Given the description of an element on the screen output the (x, y) to click on. 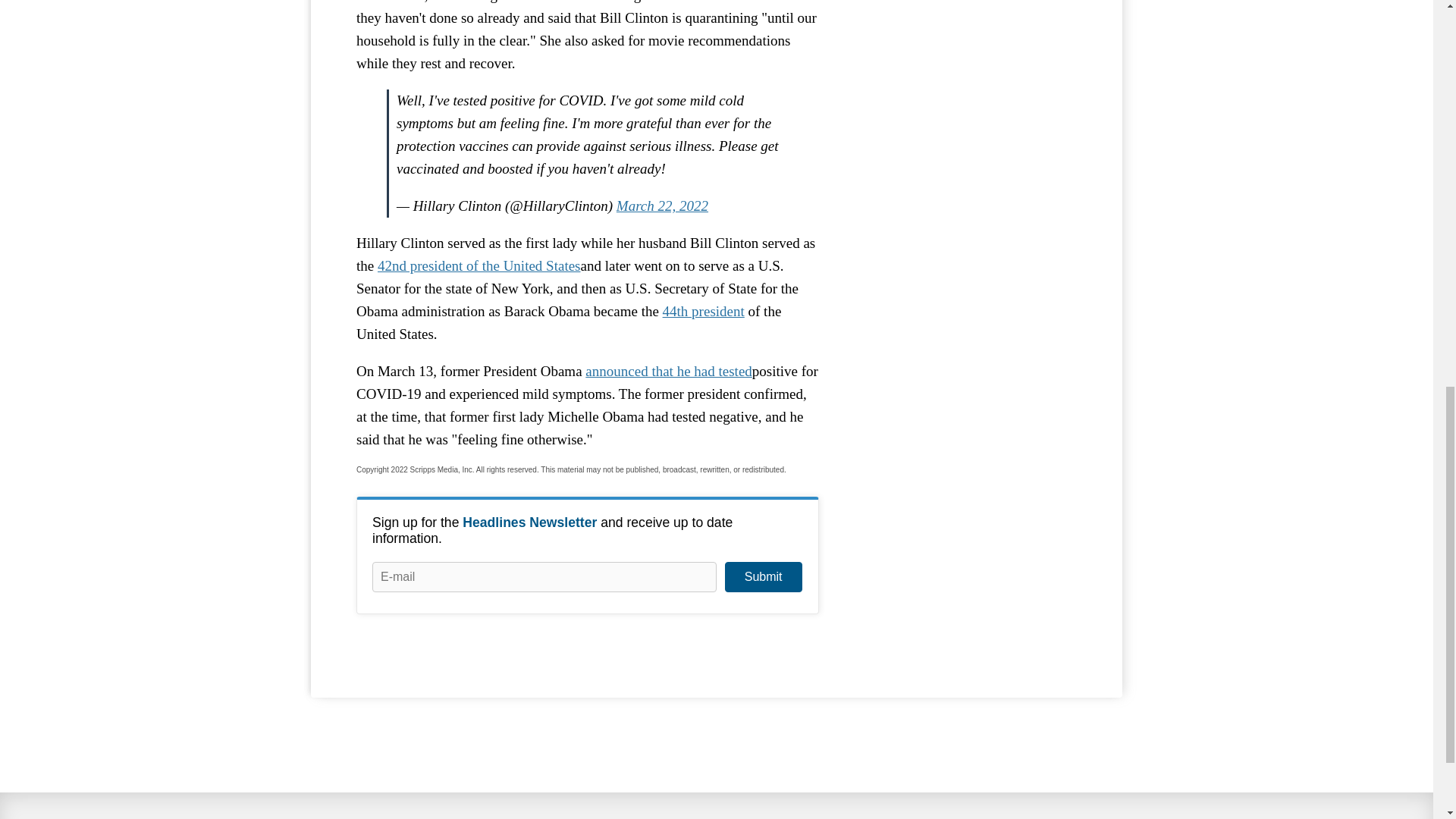
Submit (763, 576)
